Given the description of an element on the screen output the (x, y) to click on. 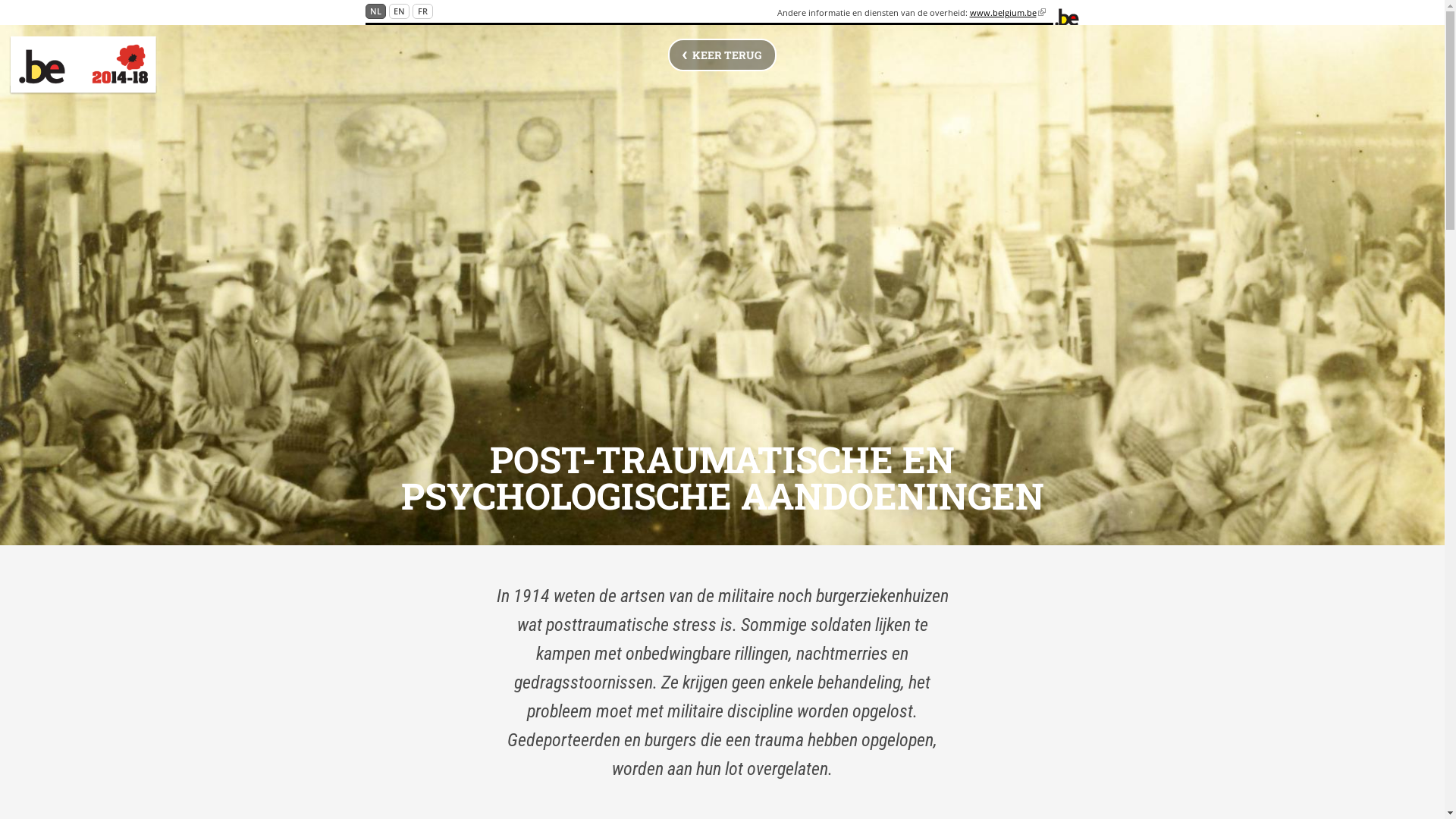
EN Element type: text (399, 10)
www.belgium.be
(link is external) Element type: text (1007, 12)
NL Element type: text (375, 10)
FR Element type: text (422, 10)
VICTIMS OF WAR Element type: text (156, 67)
Return to the Victims Of War home page Element type: hover (83, 65)
Skip to main content Element type: text (54, 0)
KEER TERUG Element type: text (722, 54)
